Given the description of an element on the screen output the (x, y) to click on. 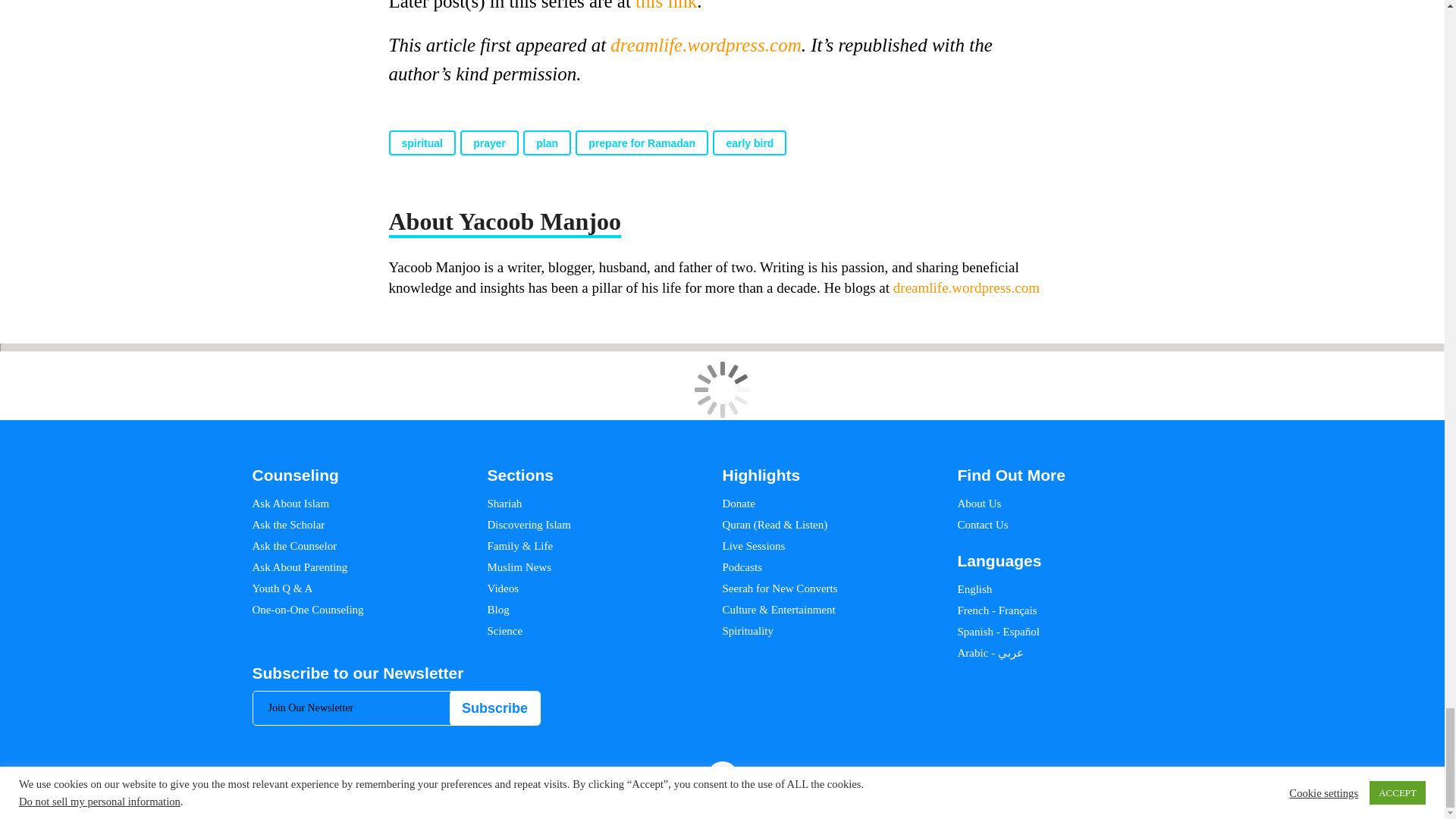
Subscribe (494, 708)
Twitter (1068, 777)
instagram (1091, 777)
plan Tag (546, 142)
pinterest (1113, 777)
spiritual Tag (421, 142)
Join Our Newsletter (396, 707)
early bird Tag (749, 142)
Facebook (1045, 777)
prayer Tag (489, 142)
prepare for Ramadan Tag (641, 142)
